Given the description of an element on the screen output the (x, y) to click on. 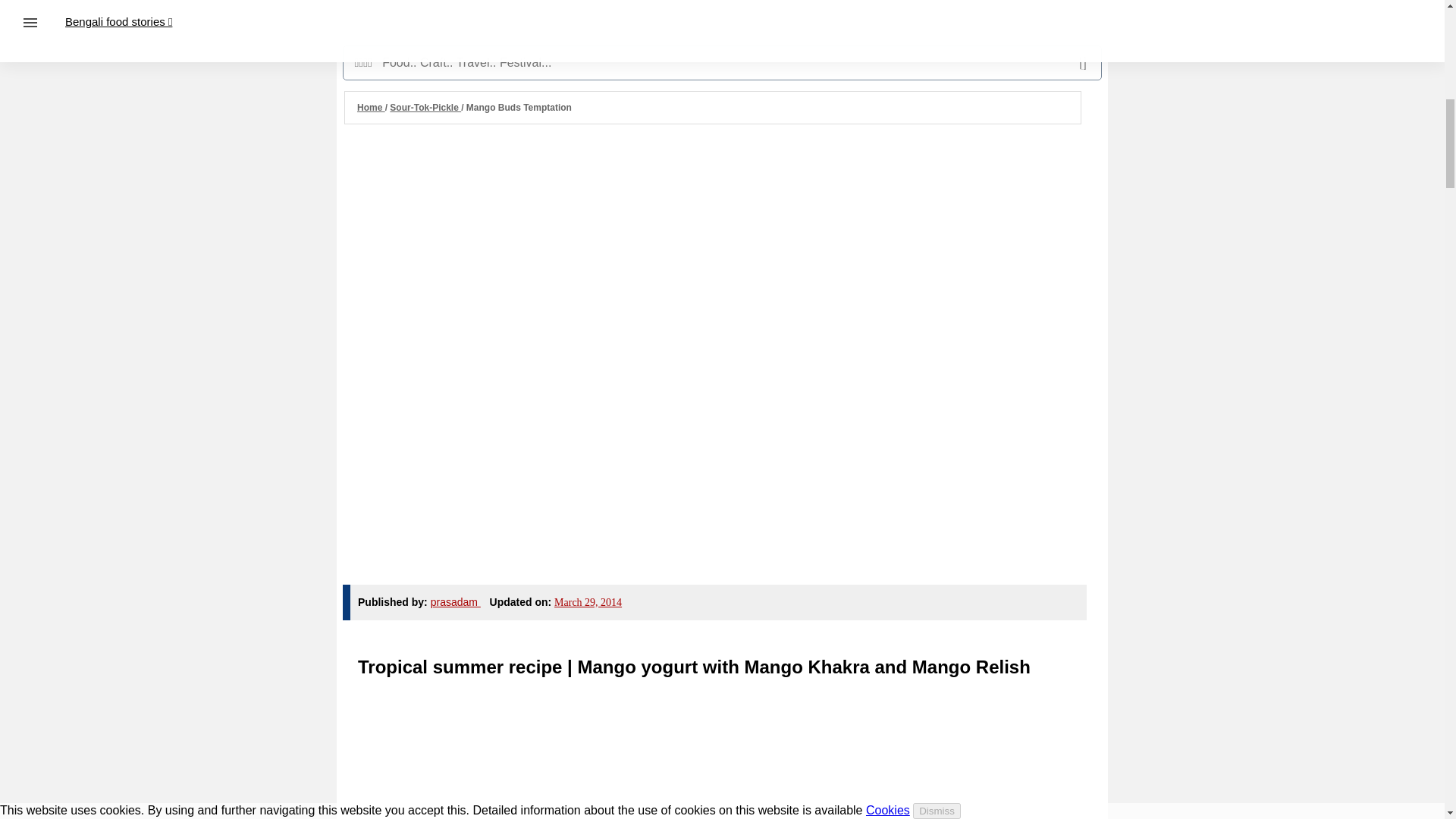
March 29, 2014 (587, 602)
prasadam (455, 602)
Home (370, 107)
Sour-Tok-Pickle (425, 107)
